Given the description of an element on the screen output the (x, y) to click on. 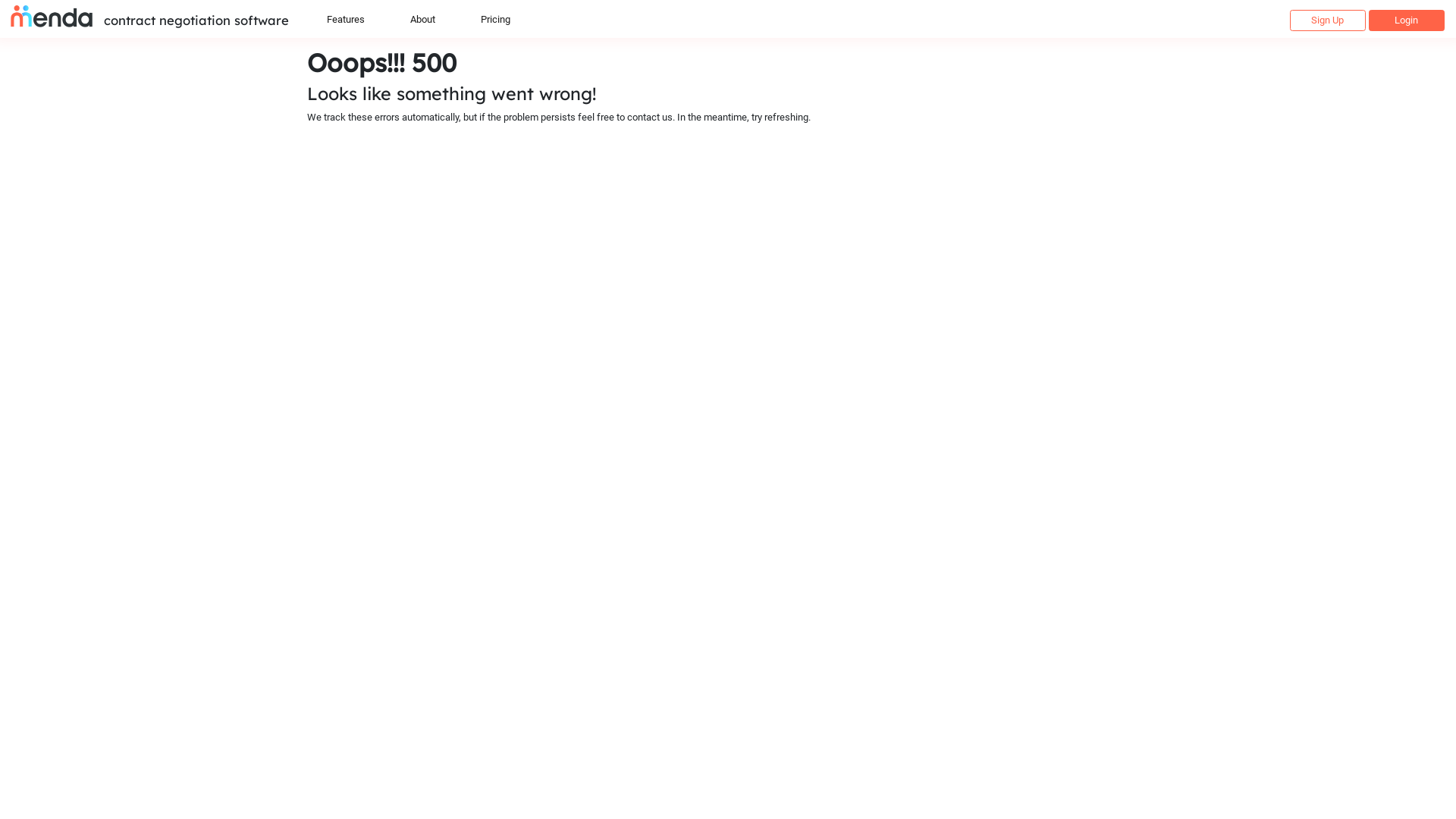
Features Element type: text (345, 17)
Pricing Element type: text (495, 17)
Sign Up Element type: text (1327, 20)
Login Element type: text (1406, 20)
About Element type: text (422, 17)
